Given the description of an element on the screen output the (x, y) to click on. 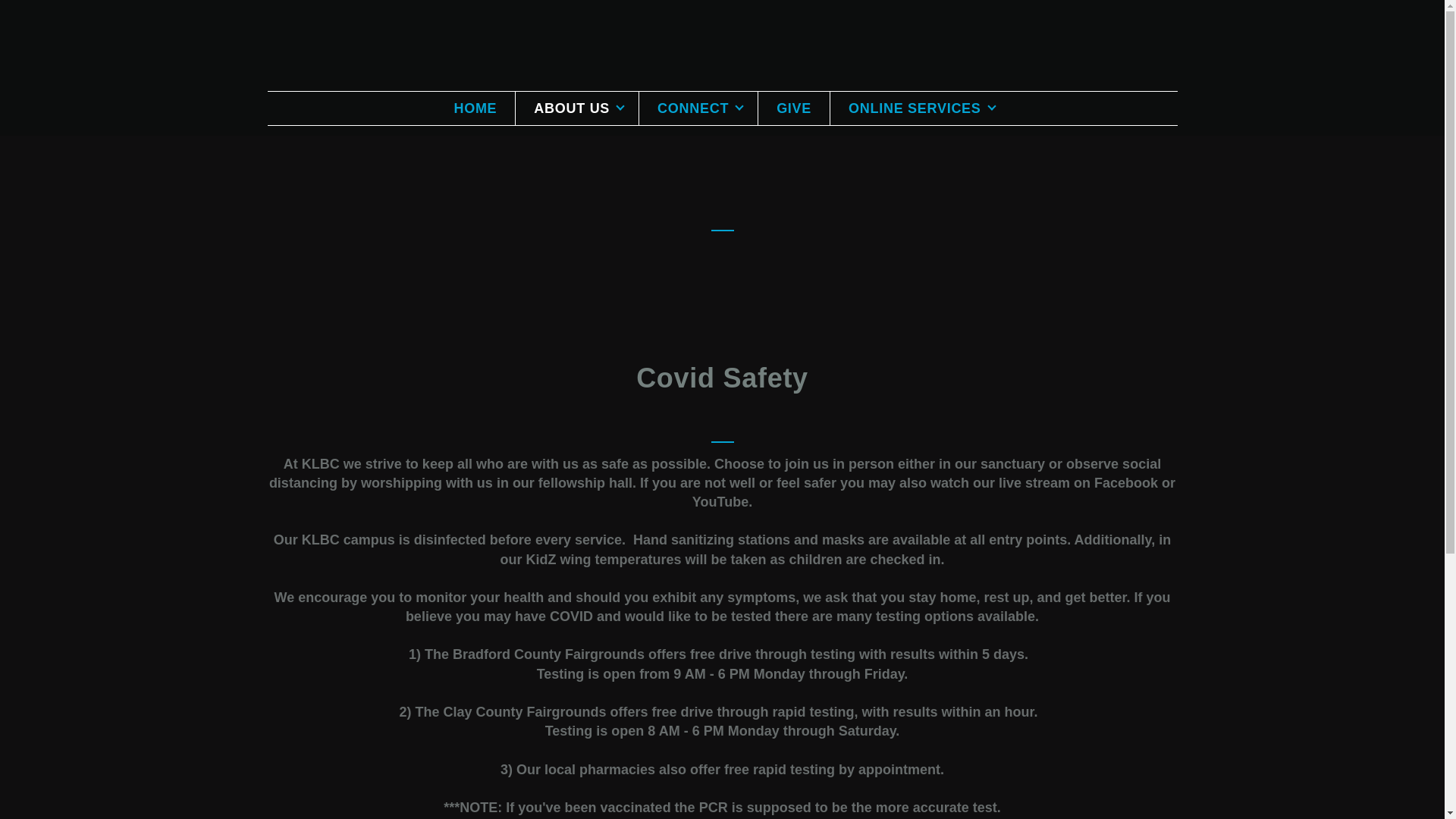
HOME (475, 108)
CONNECT (698, 108)
ONLINE SERVICES (919, 108)
GIVE (793, 108)
ABOUT US (577, 108)
